Given the description of an element on the screen output the (x, y) to click on. 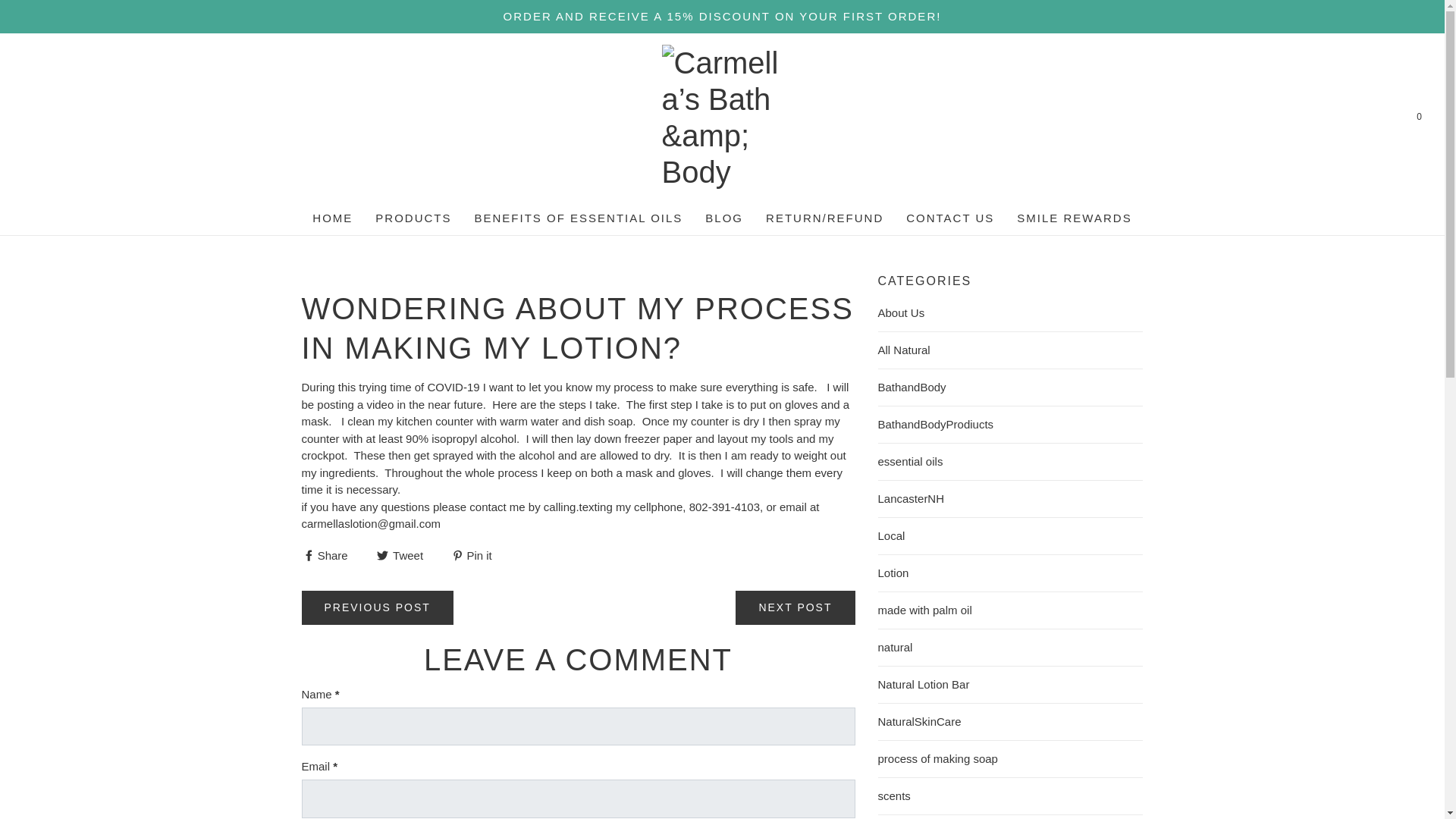
Show articles tagged natural (1009, 647)
BENEFITS OF ESSENTIAL OILS (578, 218)
Show articles tagged made with palm oil (1009, 610)
Show articles tagged Lotion (1009, 573)
Show articles tagged All Natural (1009, 350)
Show articles tagged BathandBody (1009, 387)
Show articles tagged Natural Lotion Bar (1009, 684)
HOME (332, 218)
Show articles tagged essential oils (1009, 461)
SMILE REWARDS (1073, 218)
PRODUCTS (413, 218)
Show articles tagged LancasterNH (1009, 498)
Show articles tagged About Us (1009, 312)
CONTACT US (949, 218)
